Given the description of an element on the screen output the (x, y) to click on. 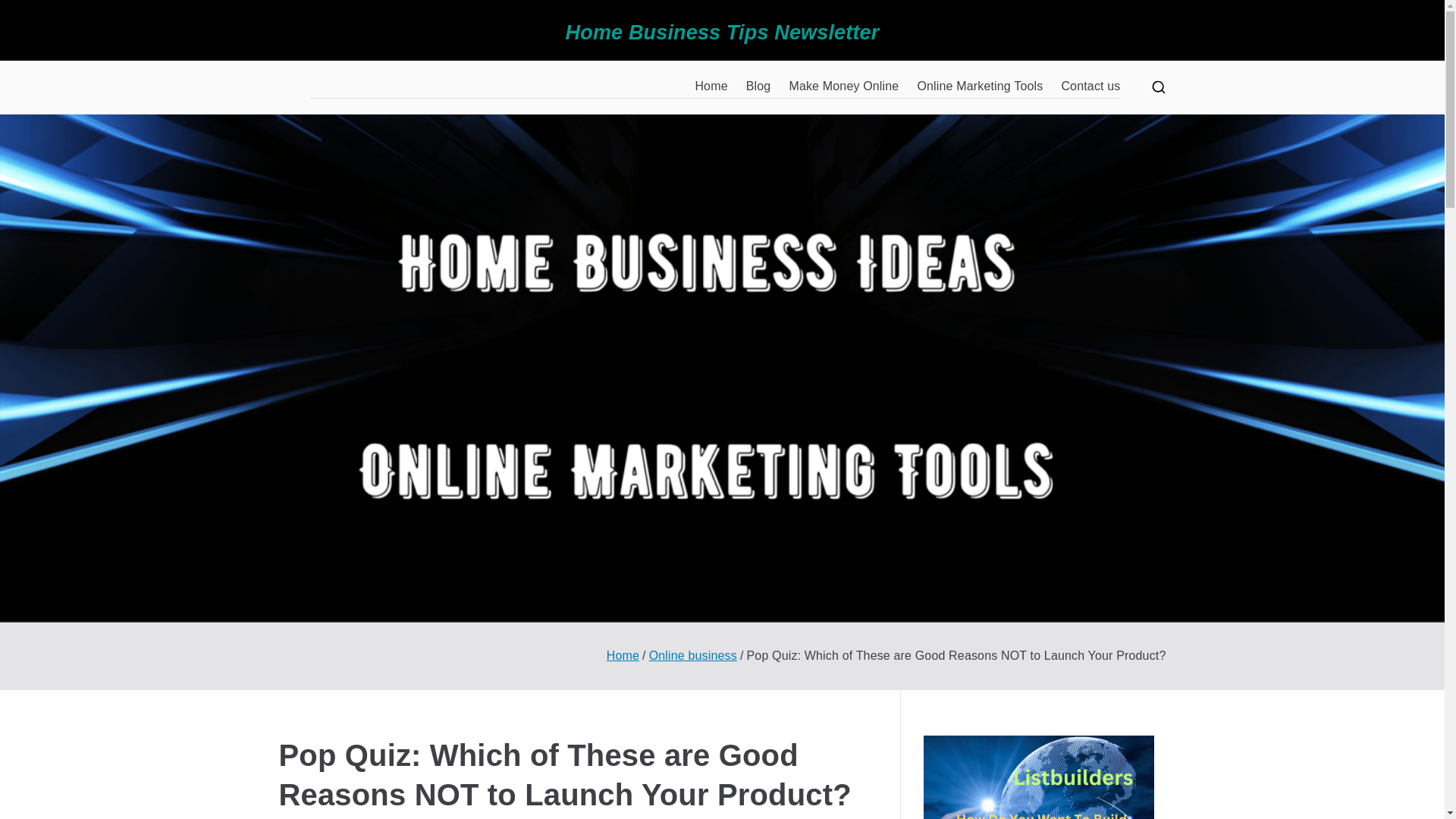
Online business (692, 655)
Contact us (1090, 86)
Home (710, 86)
Home (623, 655)
Online Marketing Tools (979, 86)
Home Business Tips Newsletter (722, 32)
Blog (758, 86)
HOME BUSINESS IDEAS (364, 97)
Search (26, 12)
Make Money Online (843, 86)
